Given the description of an element on the screen output the (x, y) to click on. 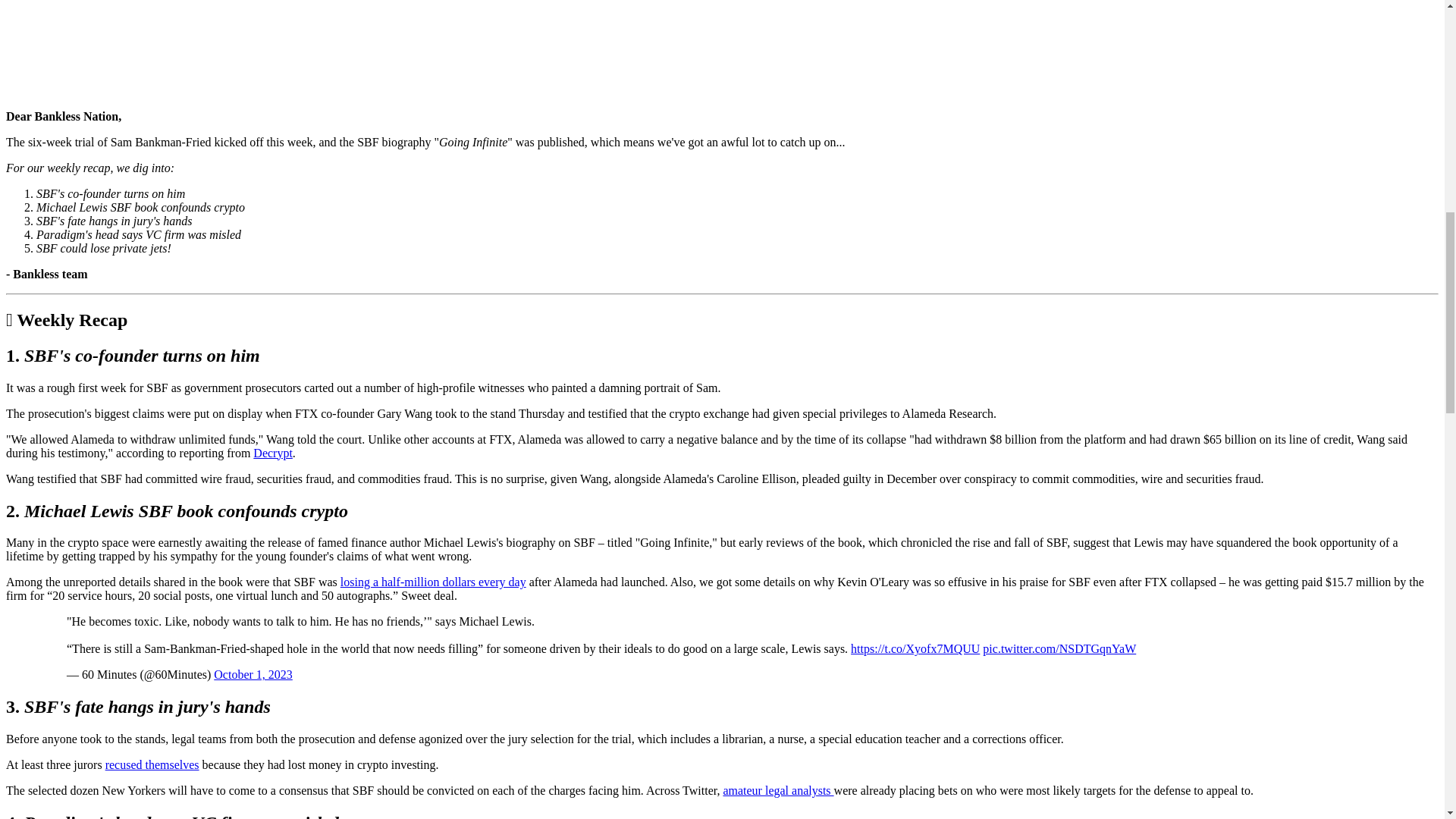
losing a half-million dollars every day (432, 581)
October 1, 2023 (253, 674)
recused themselves (151, 764)
Decrypt (272, 452)
amateur legal analysts (777, 789)
